Given the description of an element on the screen output the (x, y) to click on. 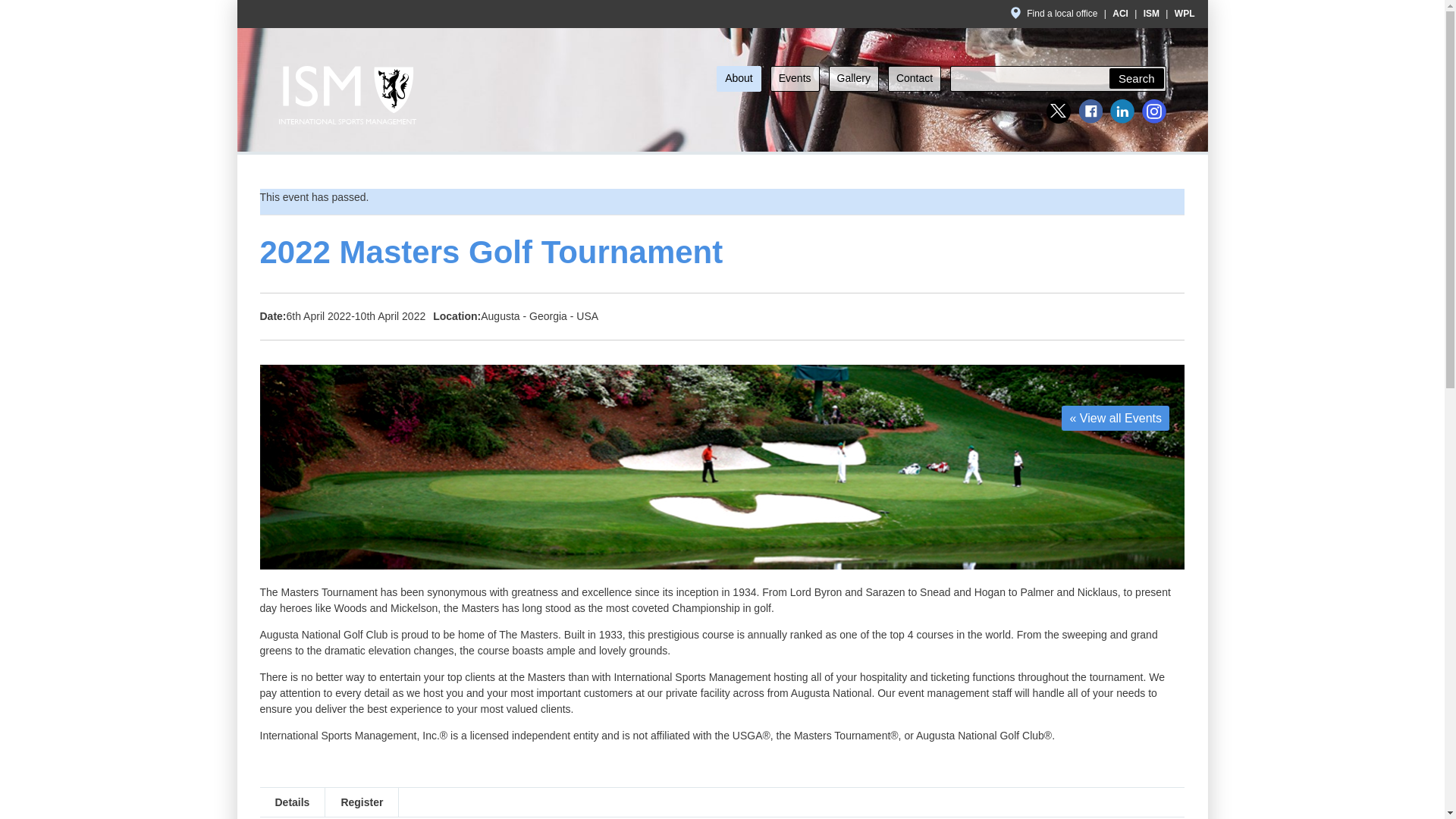
Find a local office (1053, 13)
WPL (1184, 13)
Gallery (853, 78)
Instagram (1153, 111)
Register (361, 801)
Facebook (1090, 111)
Twitter (1058, 111)
Search (1136, 78)
ACI (1120, 13)
LinkedIn (1121, 111)
Events (794, 78)
ISM (1150, 13)
Twitter (1058, 111)
About (738, 78)
LinkedIn (1121, 111)
